Given the description of an element on the screen output the (x, y) to click on. 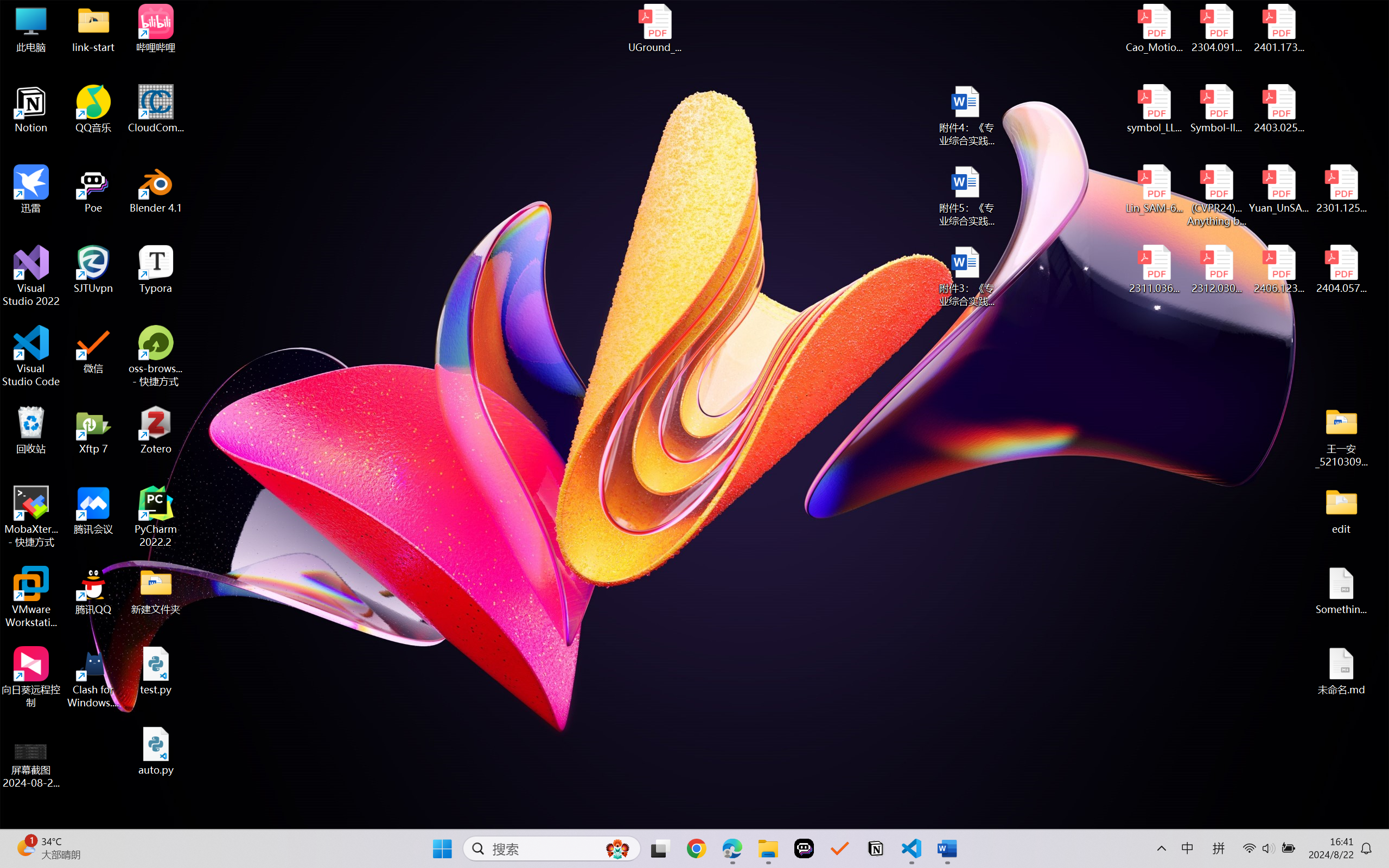
2406.12373v2.pdf (1278, 269)
Visual Studio 2022 (31, 276)
Symbol-llm-v2.pdf (1216, 109)
2404.05719v1.pdf (1340, 269)
2403.02502v1.pdf (1278, 109)
Blender 4.1 (156, 189)
edit (1340, 510)
